Given the description of an element on the screen output the (x, y) to click on. 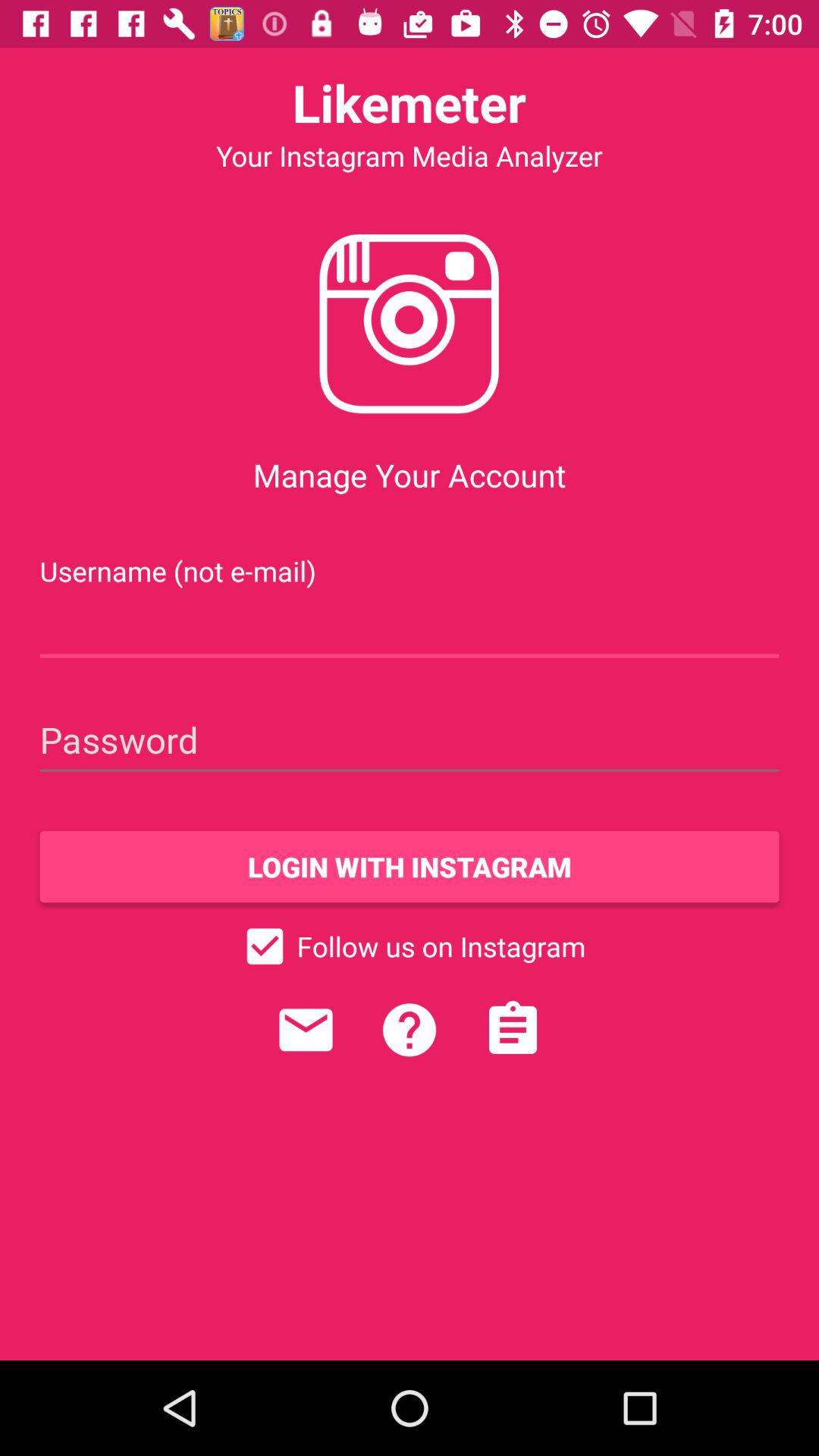
tap icon below the login with instagram item (409, 946)
